Given the description of an element on the screen output the (x, y) to click on. 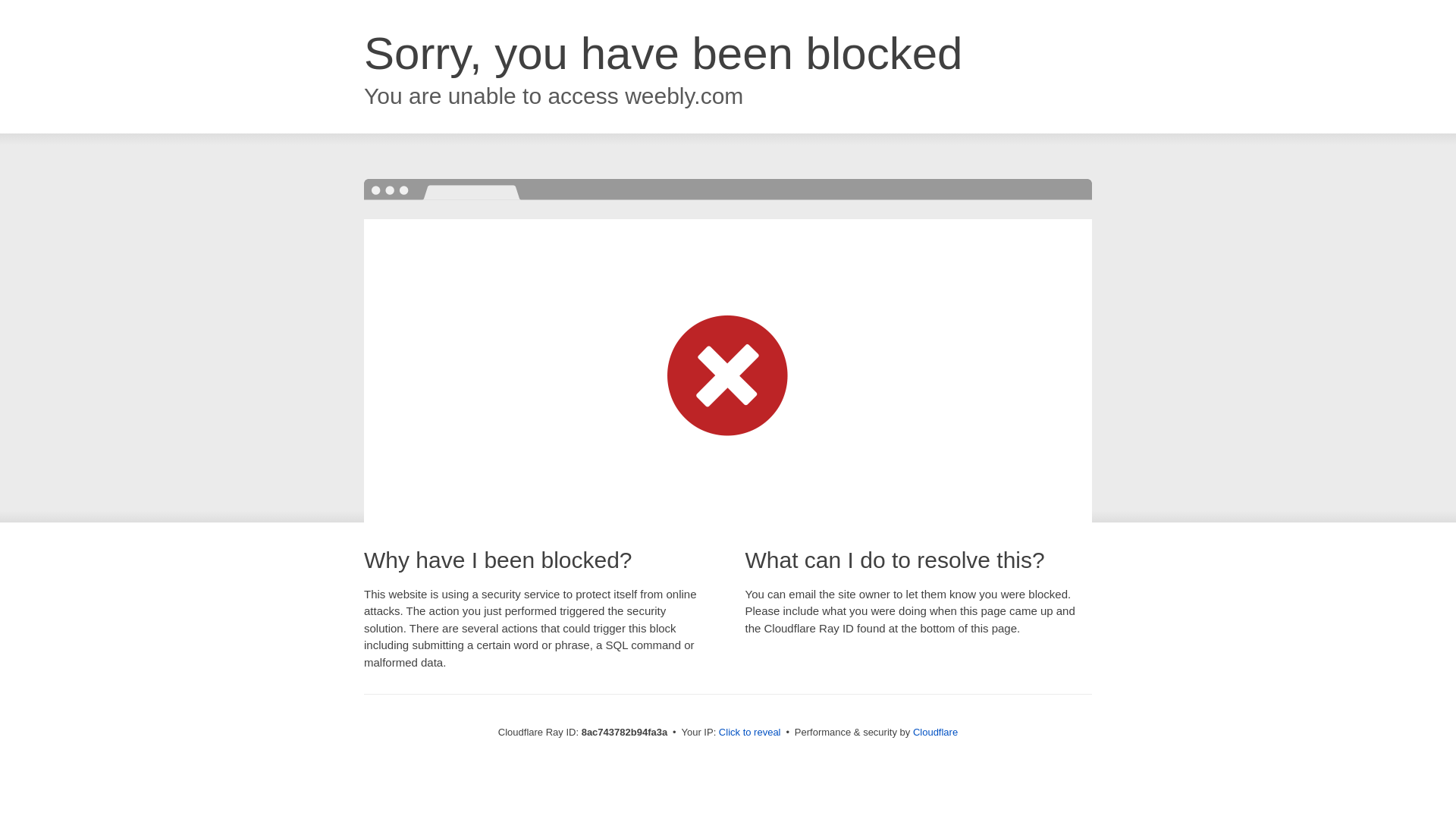
Click to reveal (749, 732)
Cloudflare (935, 731)
